Given the description of an element on the screen output the (x, y) to click on. 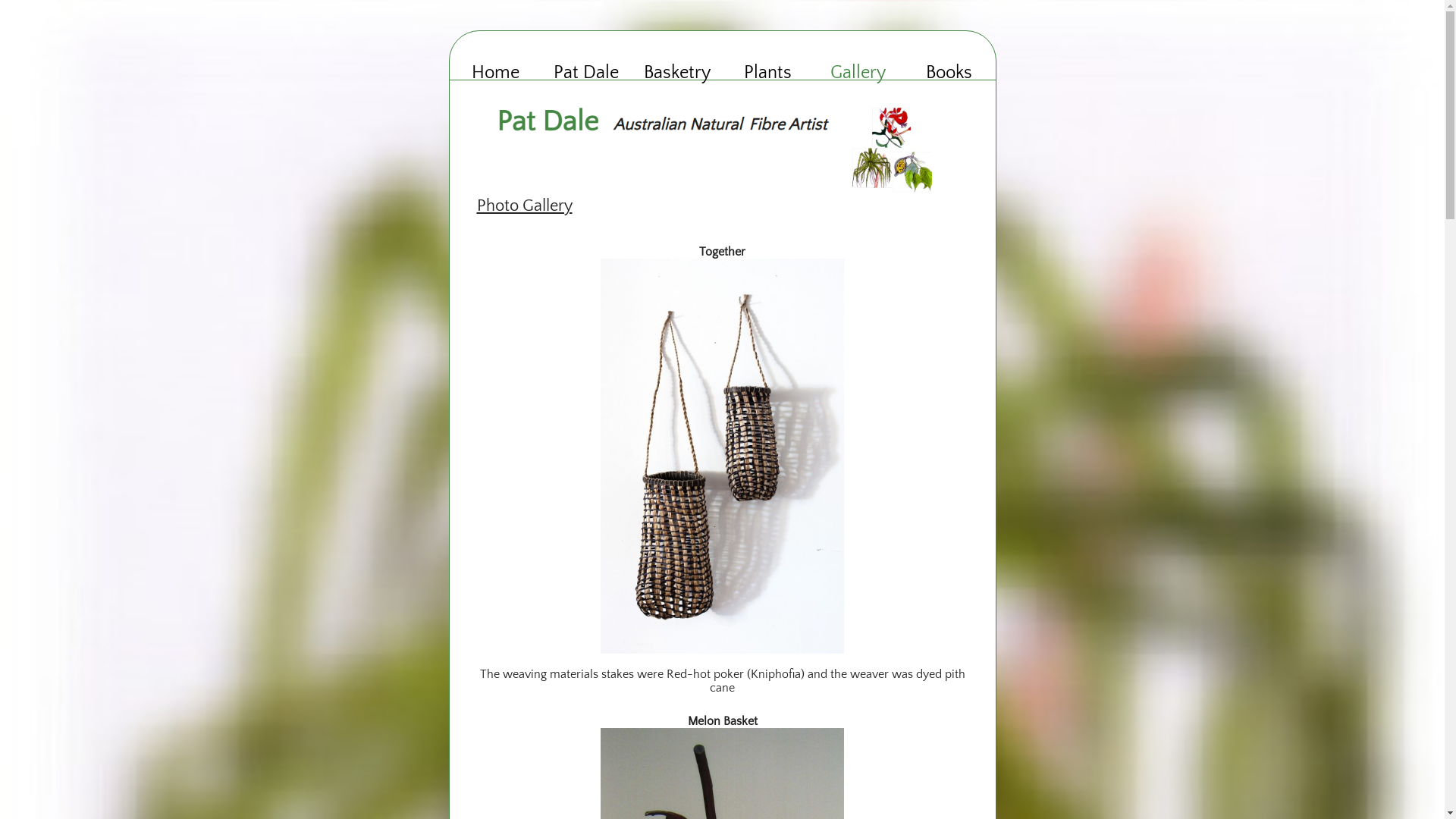
Home Element type: text (495, 72)
Pat Dale Element type: text (585, 72)
Basketry Element type: text (676, 72)
Books Element type: text (948, 72)
Plants Element type: text (767, 72)
